Given the description of an element on the screen output the (x, y) to click on. 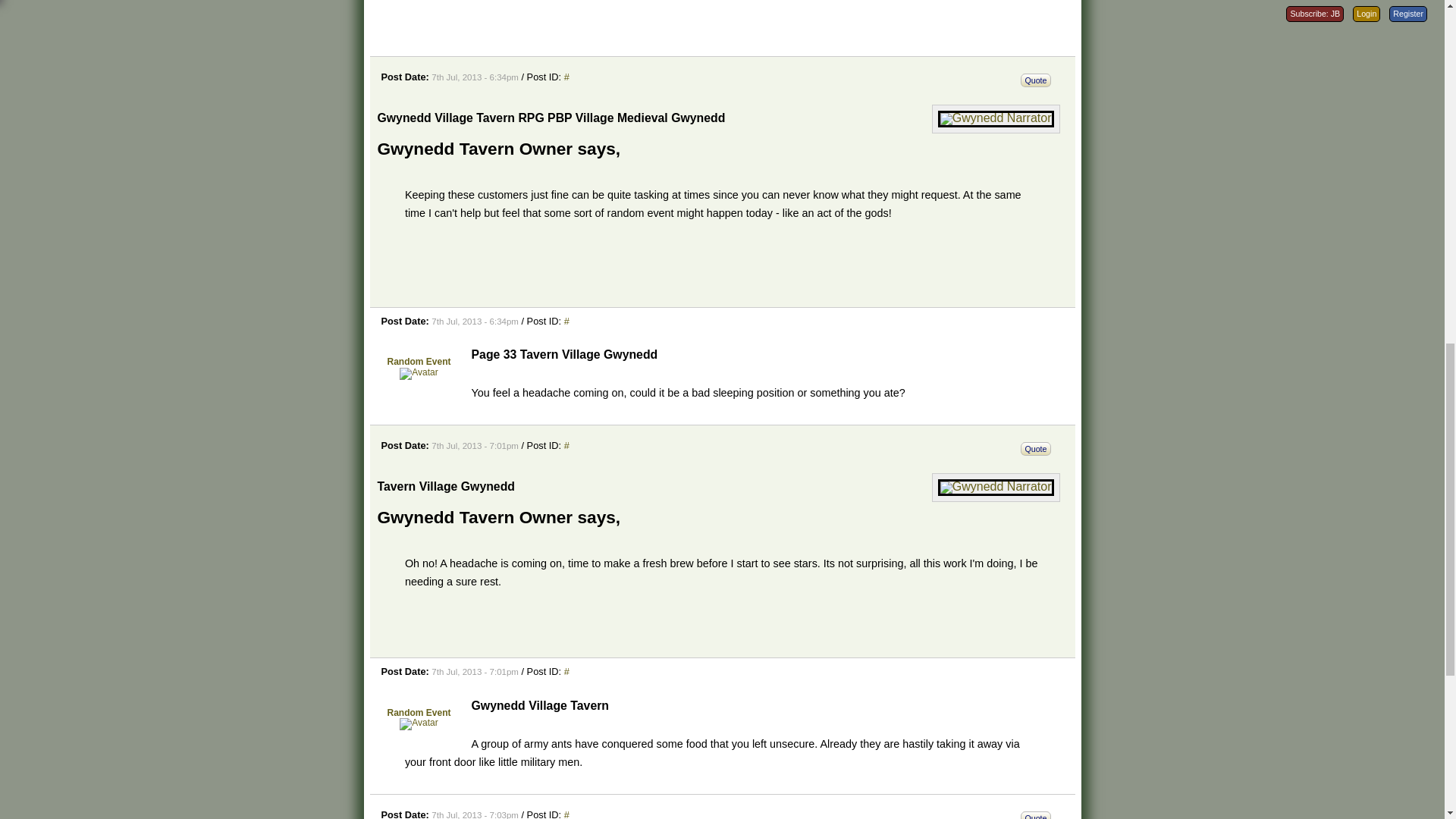
Gwynedd Tavern Owner (995, 118)
